Given the description of an element on the screen output the (x, y) to click on. 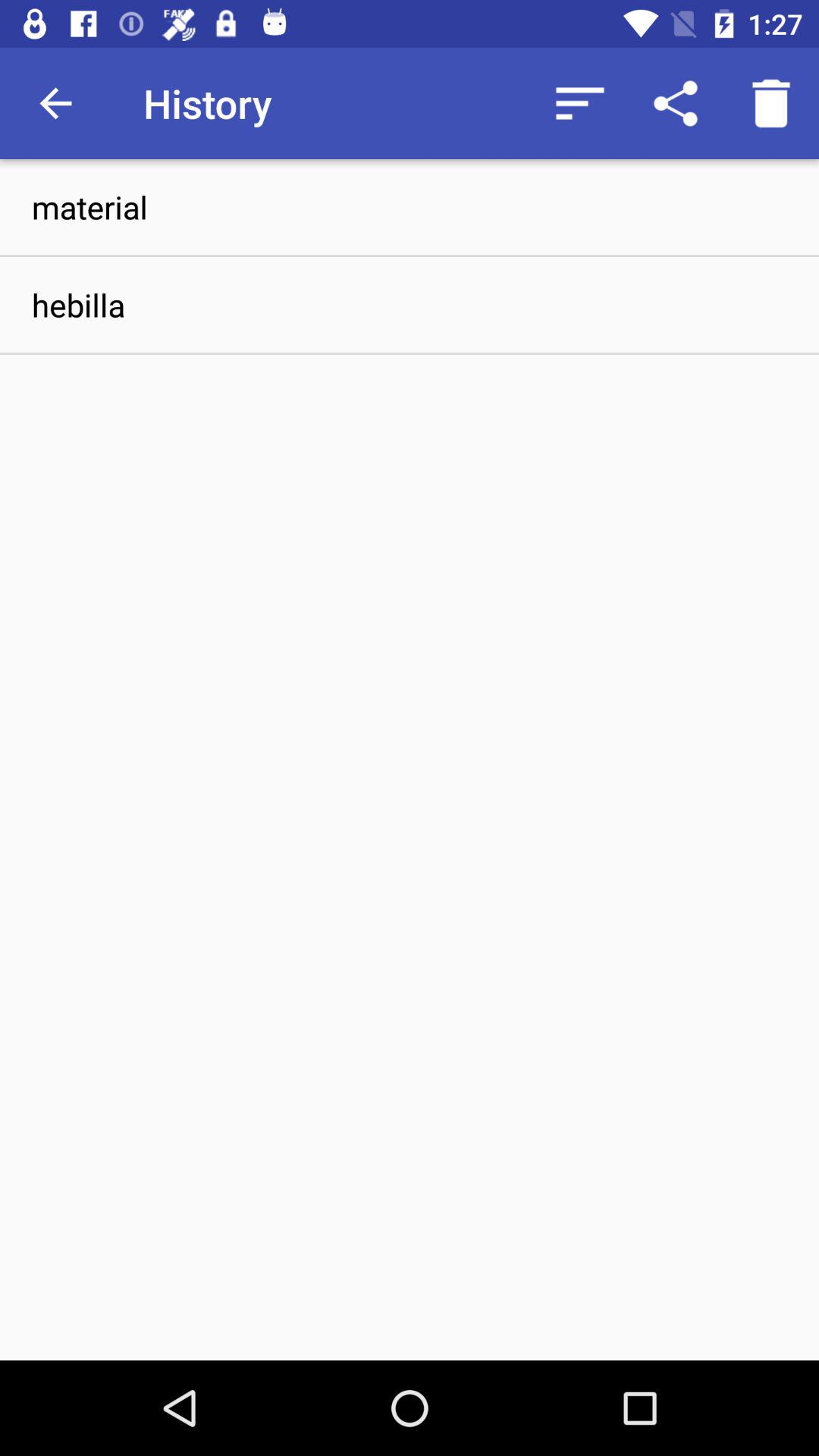
choose the icon below material icon (409, 304)
